Given the description of an element on the screen output the (x, y) to click on. 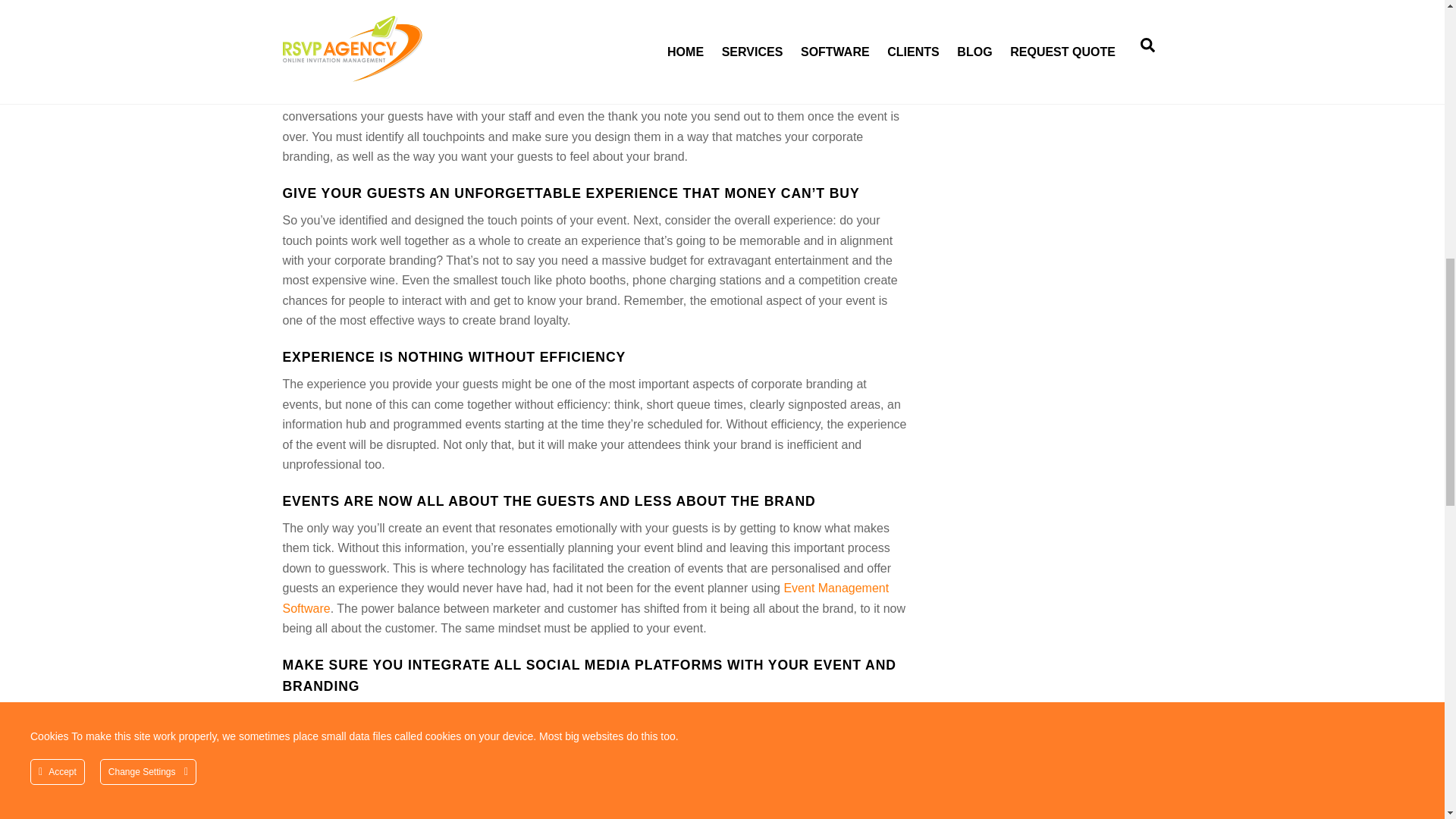
Event Management Software (585, 597)
Facebook (371, 793)
